Given the description of an element on the screen output the (x, y) to click on. 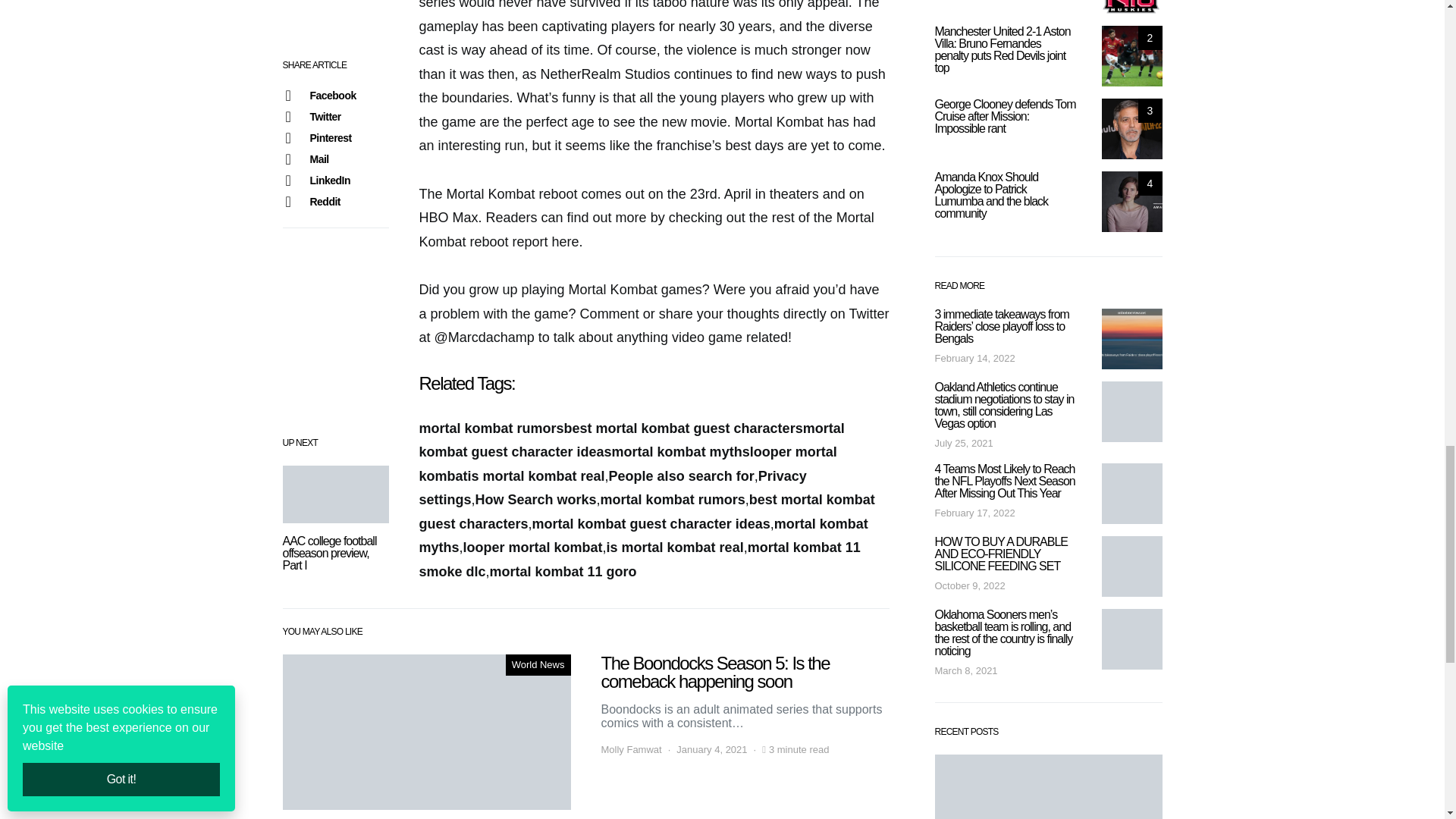
AAC college football offseason preview, Part I (335, 494)
Molly Famwat (630, 749)
View all posts by Molly Famwat (630, 749)
AAC college football offseason preview, Part I (328, 552)
The Boondocks Season 5: Is the comeback happening soon (426, 731)
World News (537, 664)
